Given the description of an element on the screen output the (x, y) to click on. 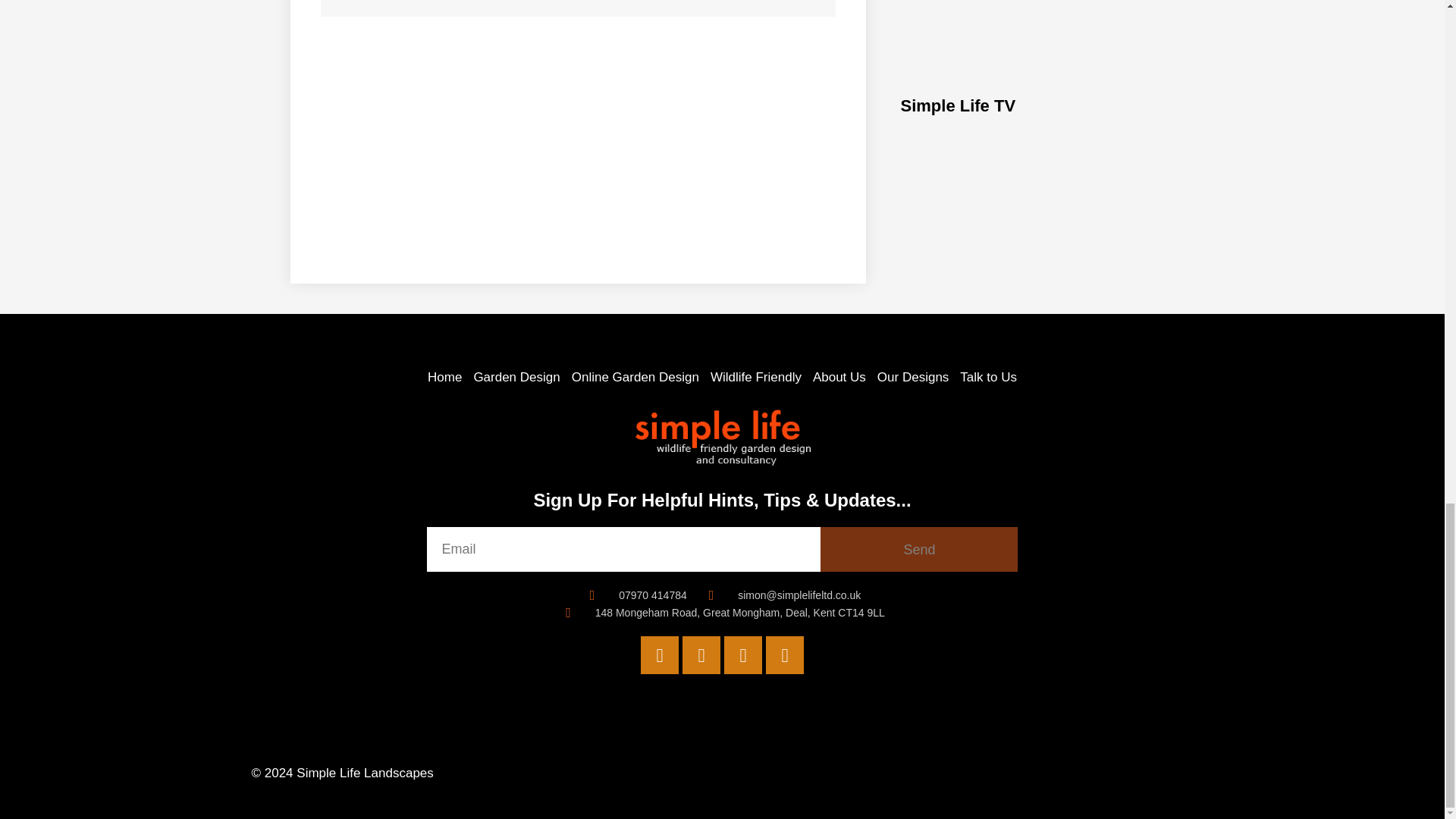
Home (444, 376)
Talk to Us (987, 376)
Send (919, 549)
Online Garden Design (635, 376)
Garden Design (516, 376)
About Us (839, 376)
Our Designs (913, 376)
Wildlife Friendly (756, 376)
